Given the description of an element on the screen output the (x, y) to click on. 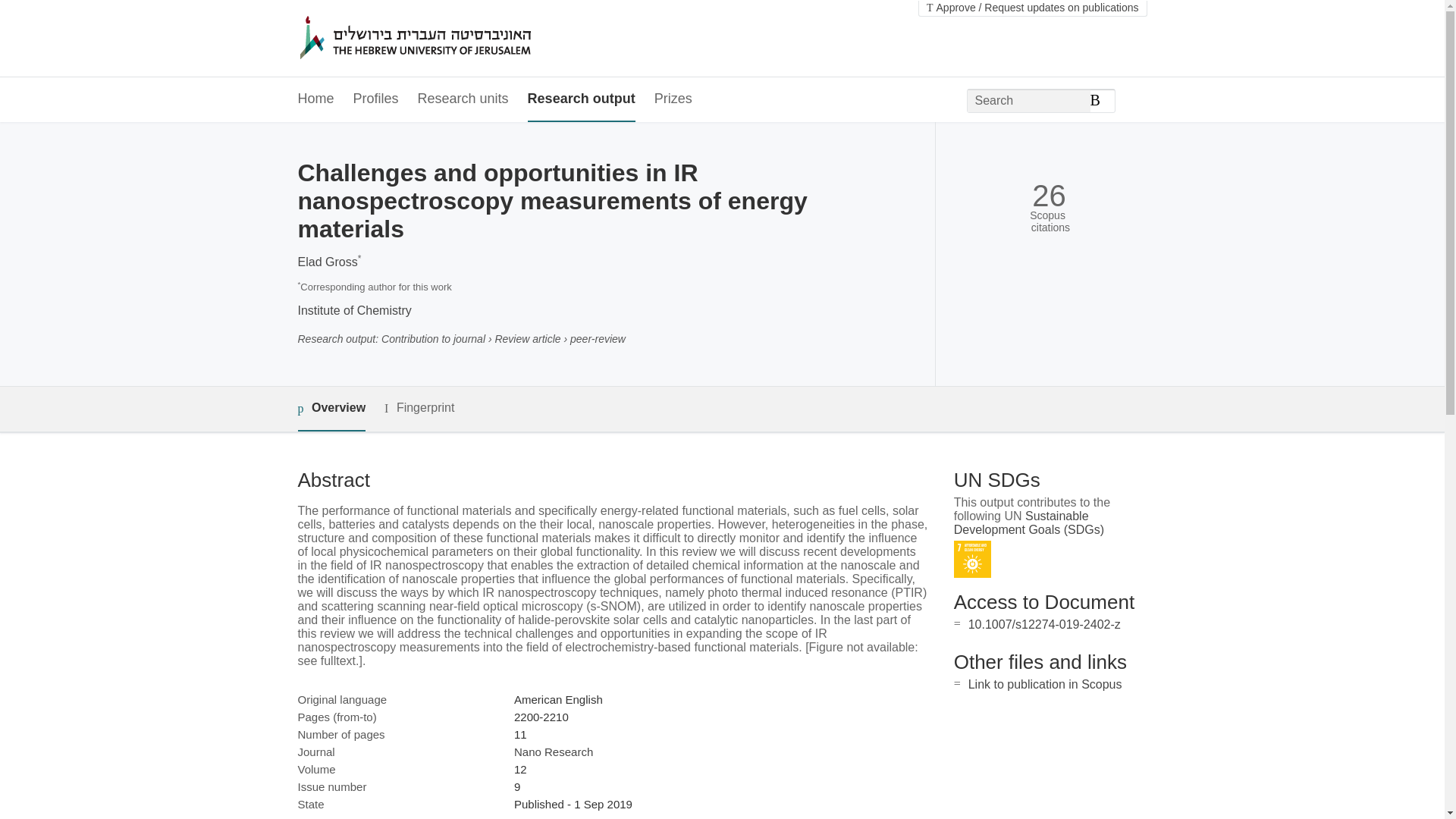
Fingerprint (419, 407)
SDG 7 - Affordable and Clean Energy (972, 559)
Overview (331, 408)
Nano Research (552, 751)
Link to publication in Scopus (1045, 684)
Elad Gross (326, 261)
Research output (580, 99)
Profiles (375, 99)
Institute of Chemistry (353, 309)
